Given the description of an element on the screen output the (x, y) to click on. 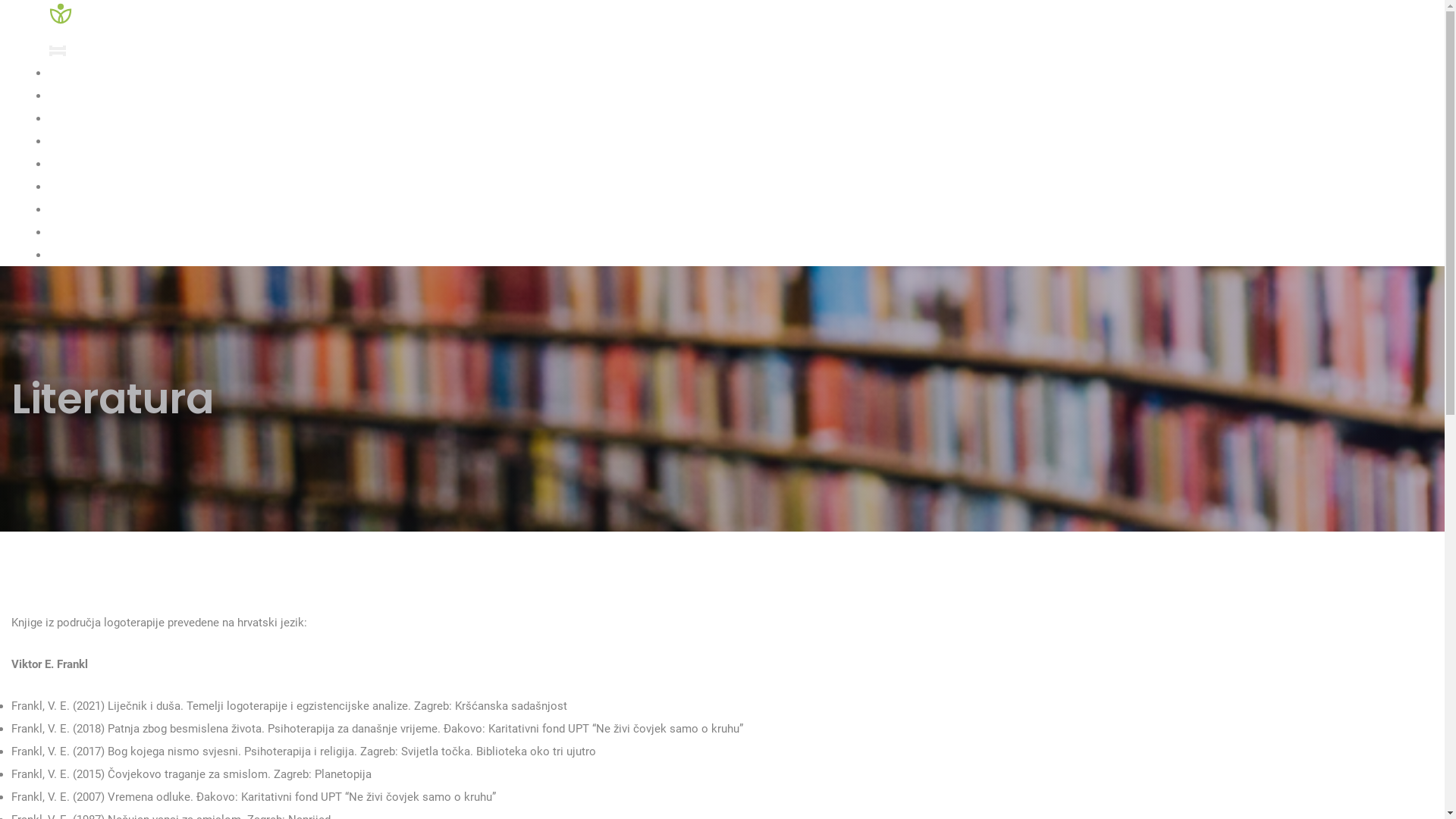
Literatura Element type: text (89, 186)
Kontakt Element type: text (84, 208)
O nama Element type: text (84, 72)
Edukacija Element type: text (88, 140)
Logoterapija Element type: text (97, 95)
Upisi Element type: text (75, 117)
Raspored predavanja Element type: text (123, 163)
